Given the description of an element on the screen output the (x, y) to click on. 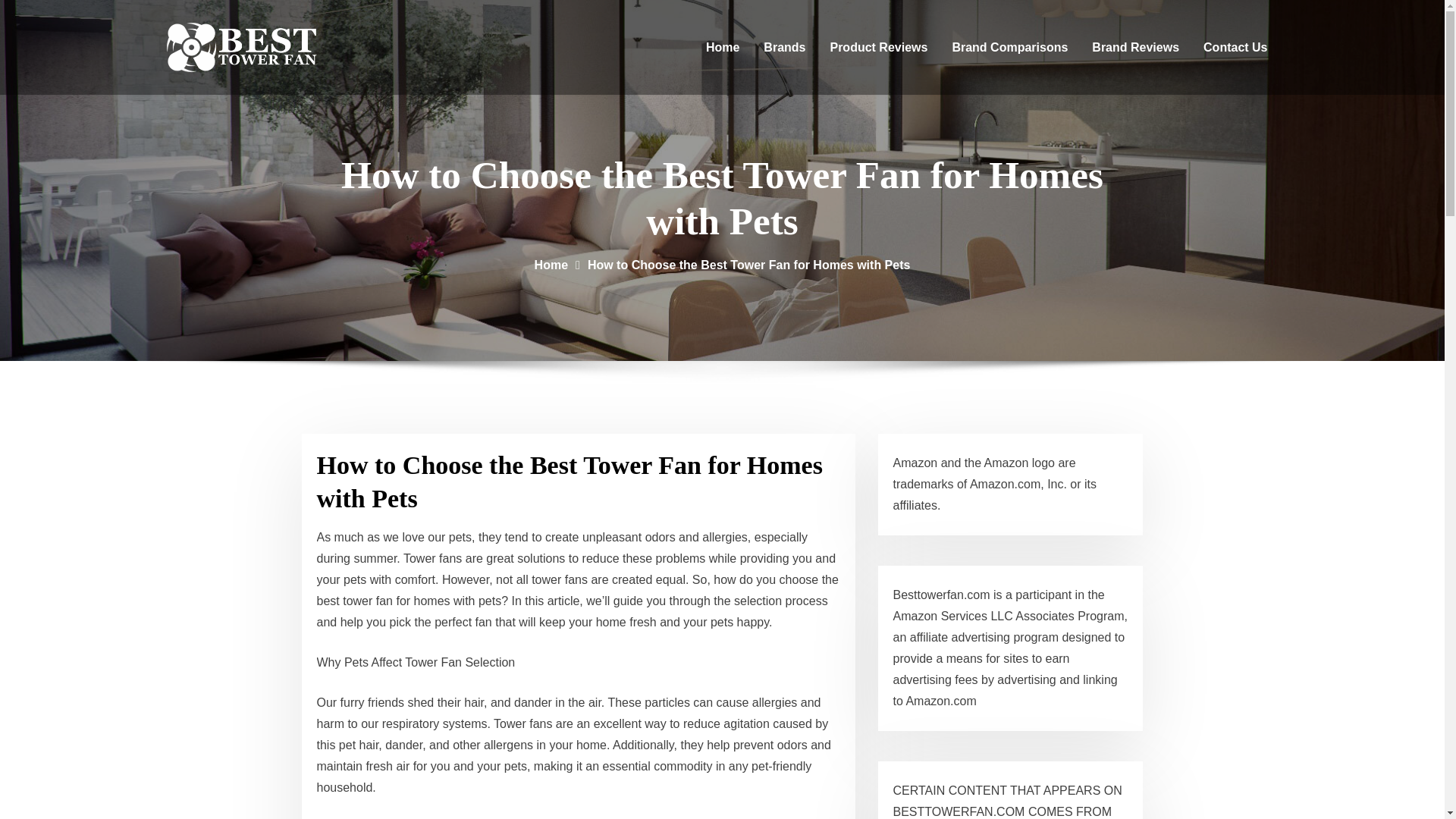
Home (550, 264)
Brand Comparisons (1009, 47)
Contact Us (1235, 47)
How to Choose the Best Tower Fan for Homes with Pets (749, 264)
Brand Reviews (1135, 47)
Product Reviews (877, 47)
